Given the description of an element on the screen output the (x, y) to click on. 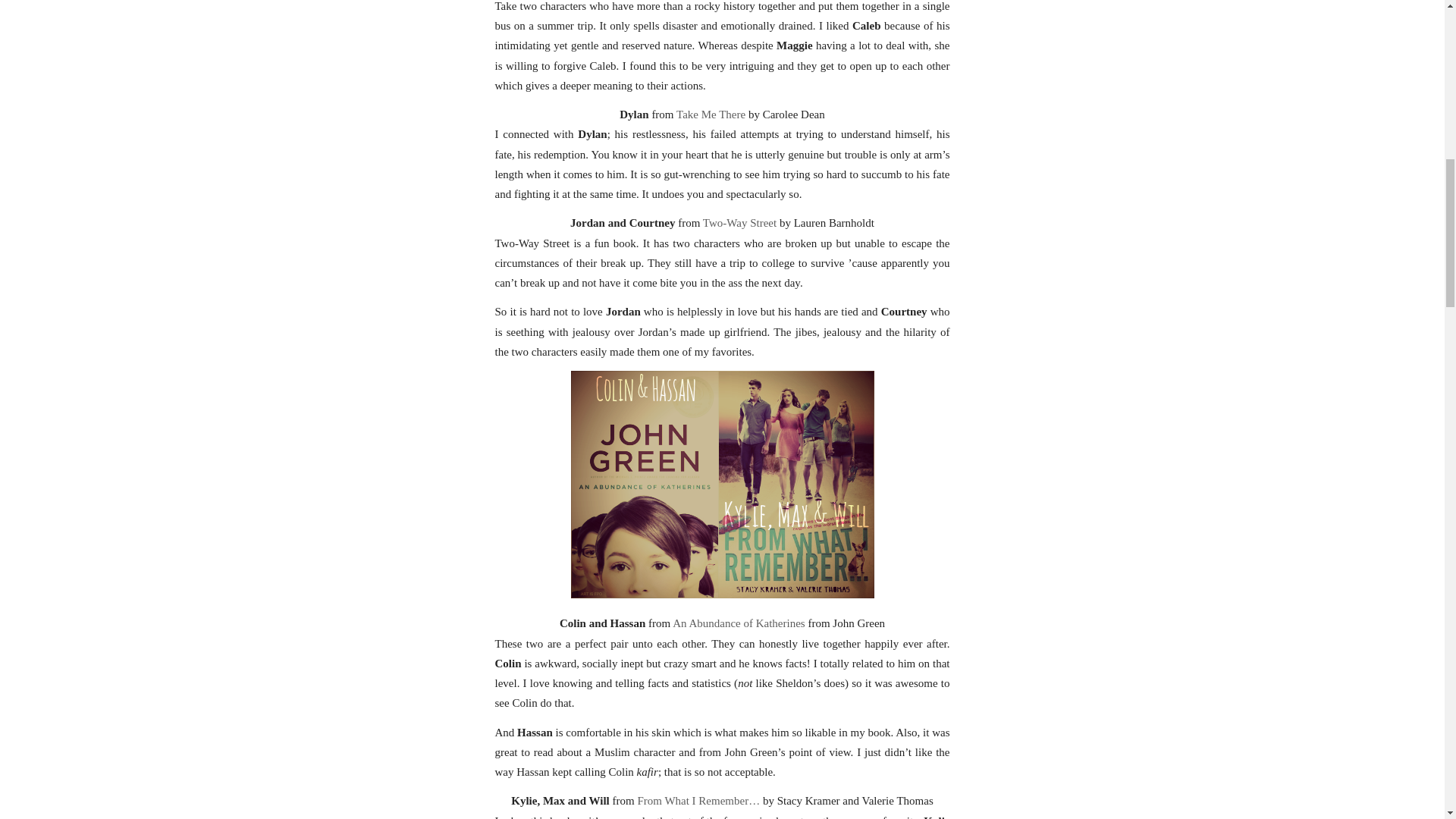
Two-Way Street (739, 223)
Take Me There (711, 114)
